Given the description of an element on the screen output the (x, y) to click on. 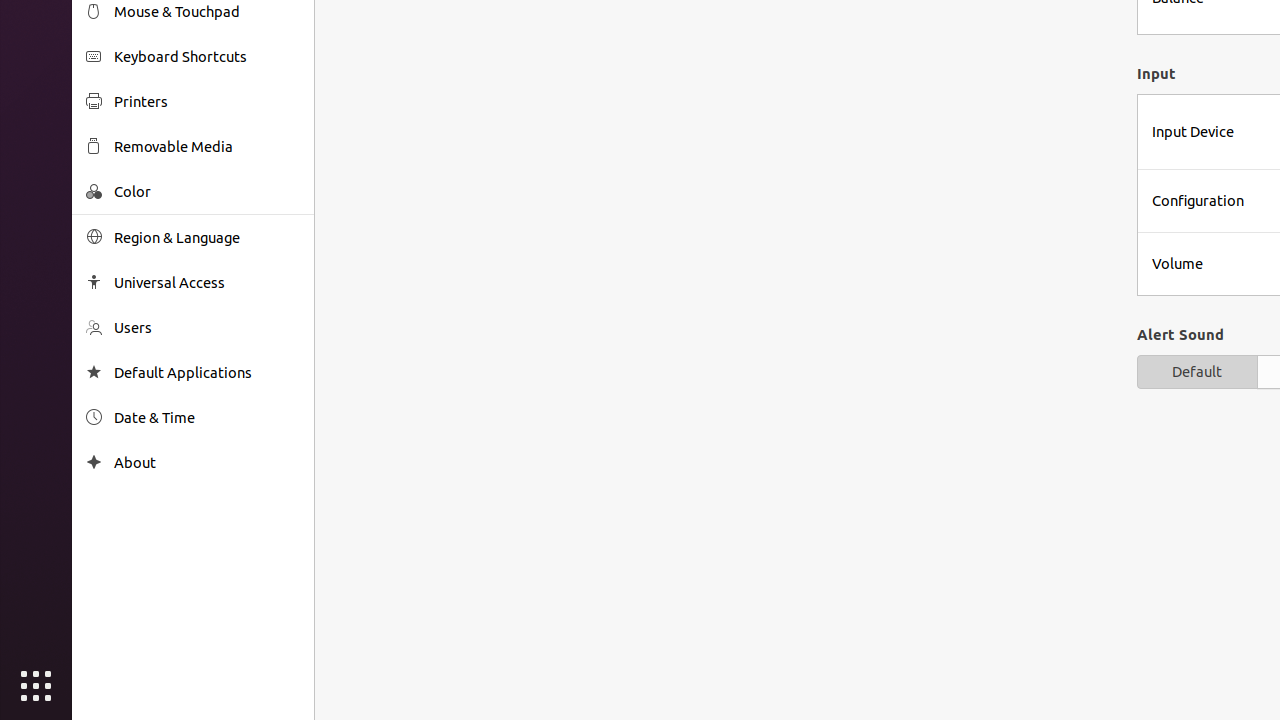
Default Element type: toggle-button (1197, 372)
Universal Access Element type: label (207, 282)
Mouse & Touchpad Element type: label (207, 11)
Date & Time Element type: label (207, 417)
Color Element type: label (207, 191)
